Given the description of an element on the screen output the (x, y) to click on. 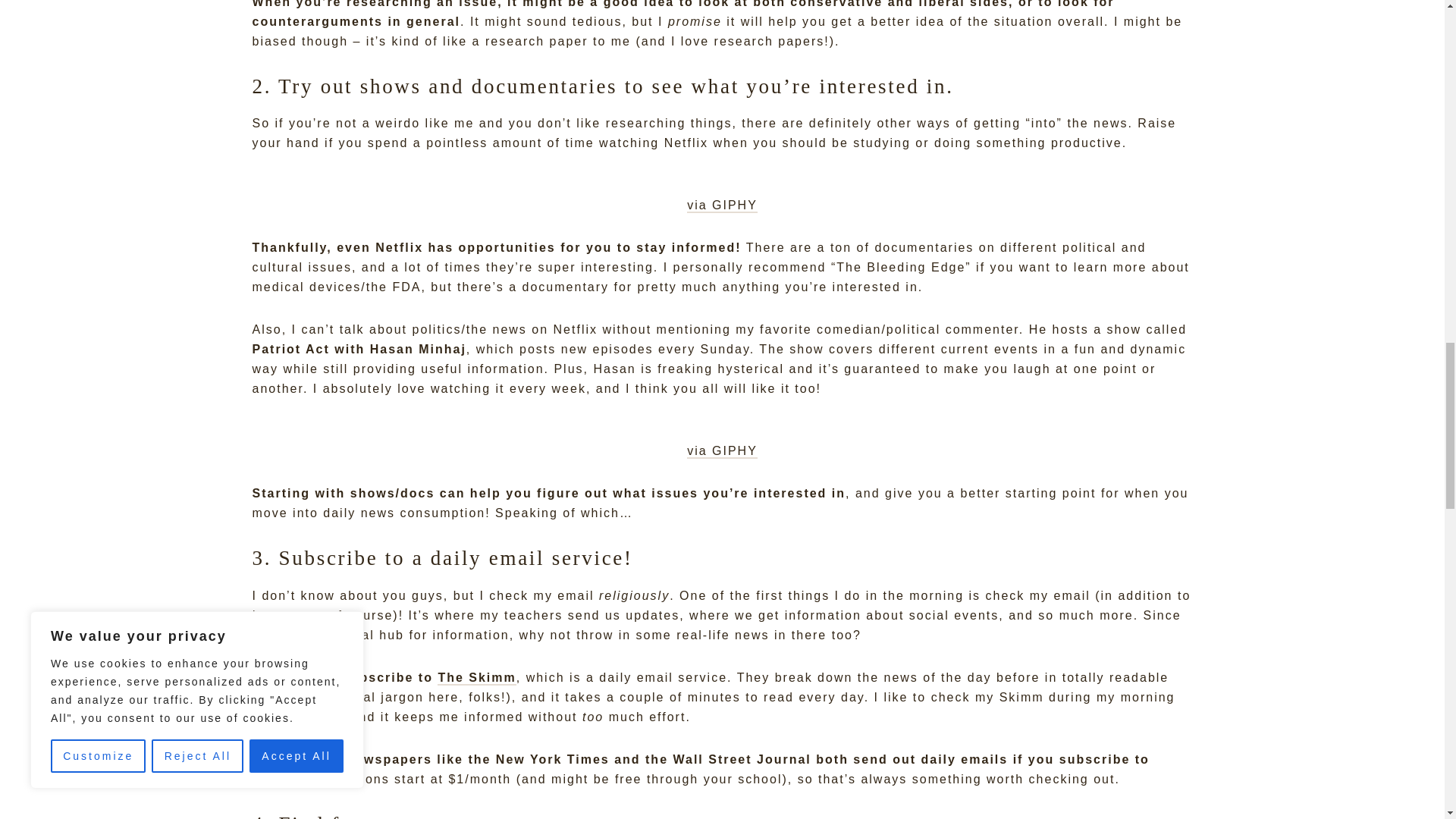
via GIPHY (722, 205)
The Skimm (476, 677)
via GIPHY (722, 451)
Instagram (284, 616)
